Given the description of an element on the screen output the (x, y) to click on. 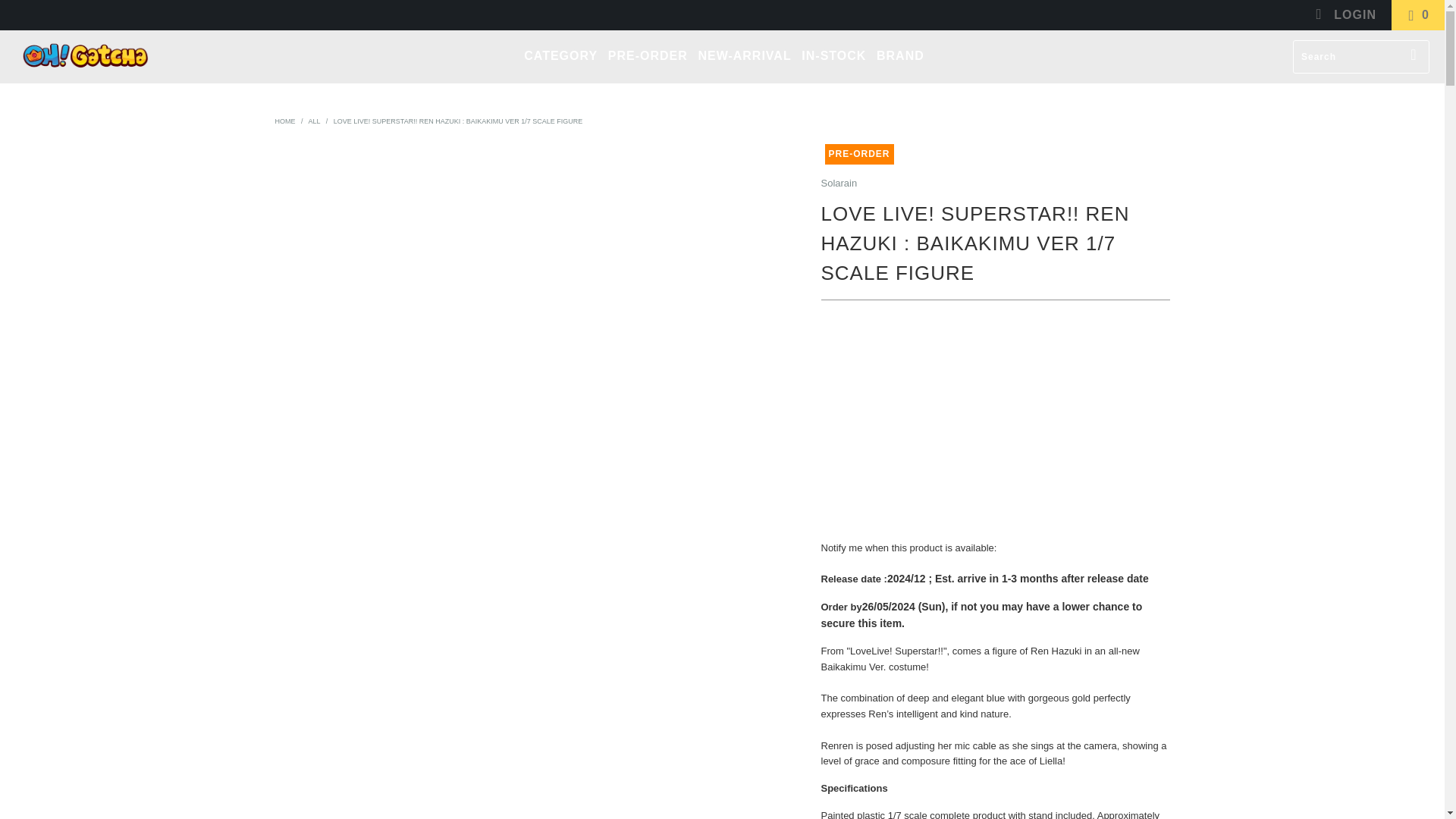
NEW-ARRIVAL (743, 56)
IN-STOCK (834, 56)
PRE-ORDER (647, 56)
Oh Gatcha (285, 121)
Solarain (839, 183)
CATEGORY (560, 56)
Oh Gatcha (84, 56)
My Account  (1344, 15)
LOGIN (1344, 15)
BRAND (900, 56)
All (314, 121)
